Given the description of an element on the screen output the (x, y) to click on. 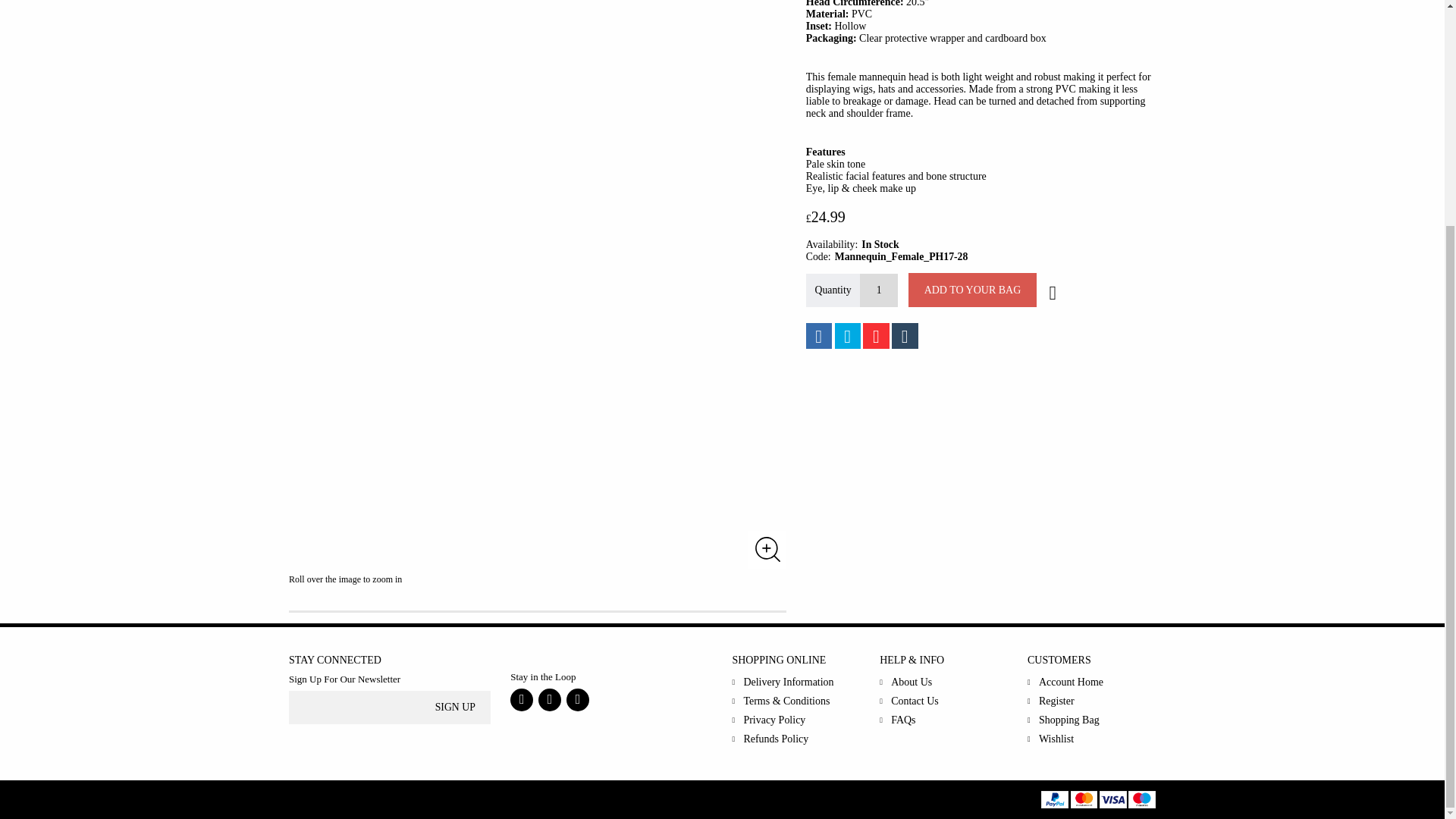
1 (879, 290)
